Given the description of an element on the screen output the (x, y) to click on. 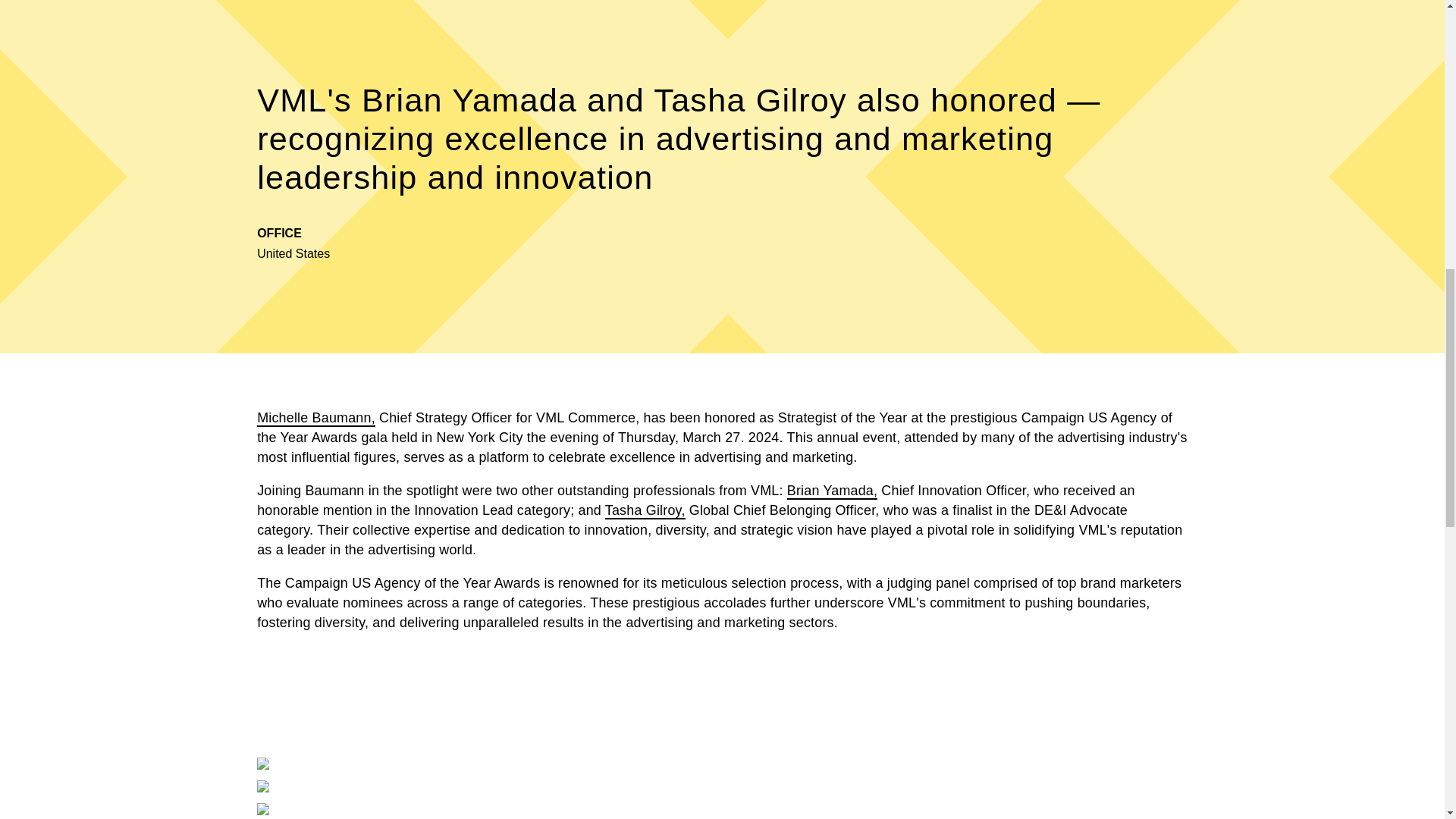
Tasha Gilroy, (645, 510)
Brian Yamada, (832, 491)
Michelle Baumann, (316, 418)
